Given the description of an element on the screen output the (x, y) to click on. 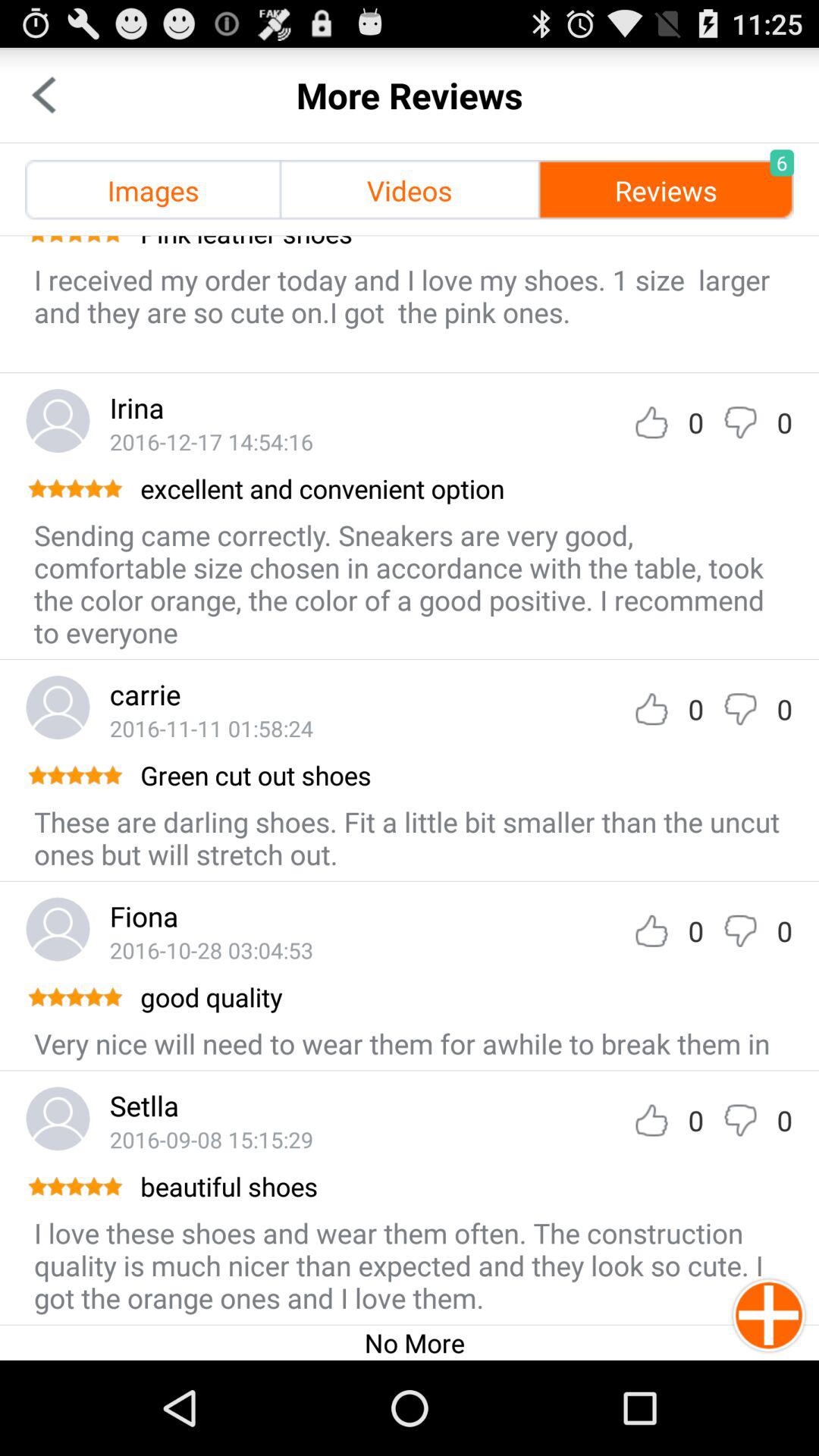
like review (651, 1120)
